Given the description of an element on the screen output the (x, y) to click on. 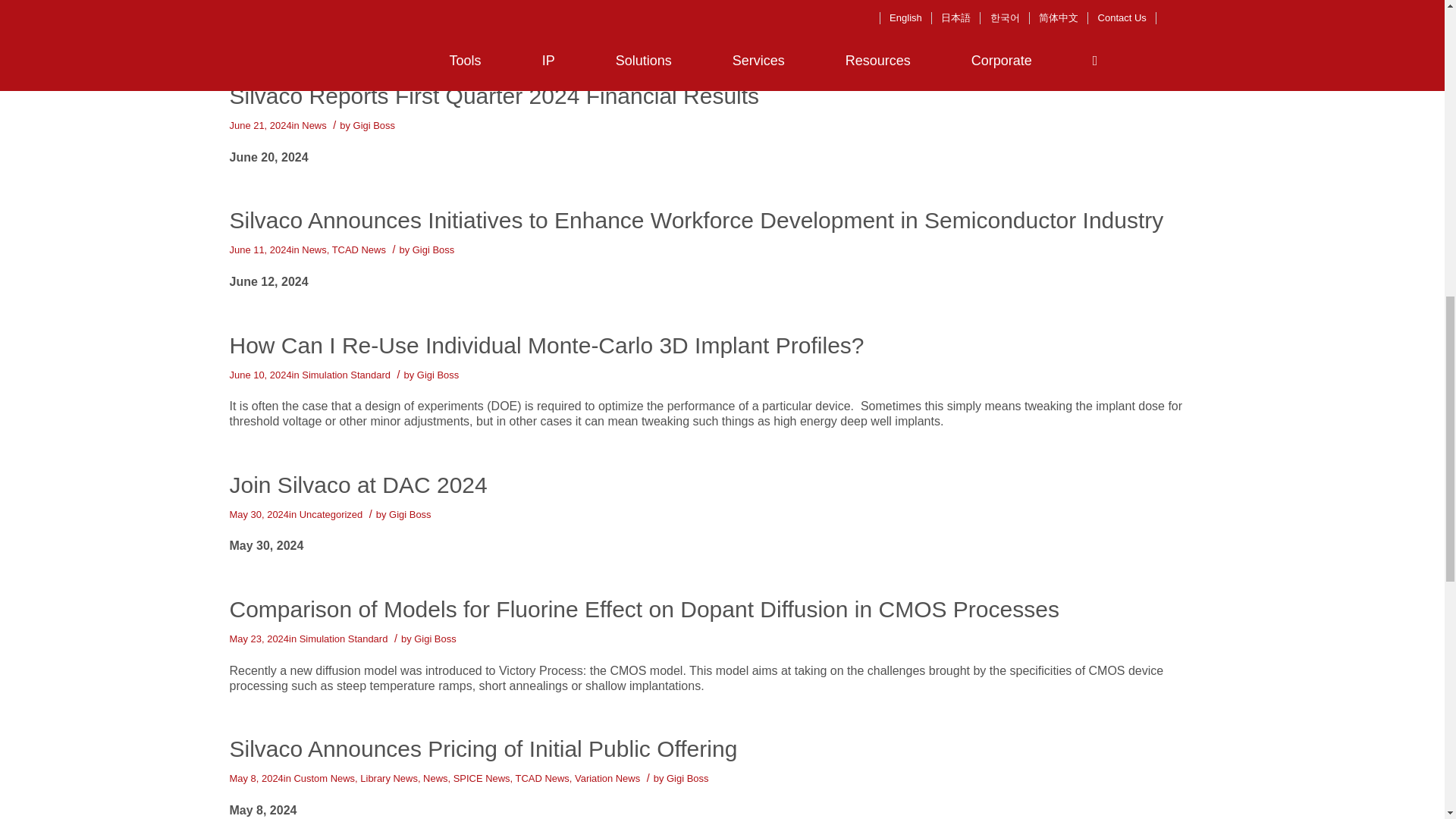
Posts by Gigi Boss (433, 249)
Posts by Gigi Boss (373, 125)
